Given the description of an element on the screen output the (x, y) to click on. 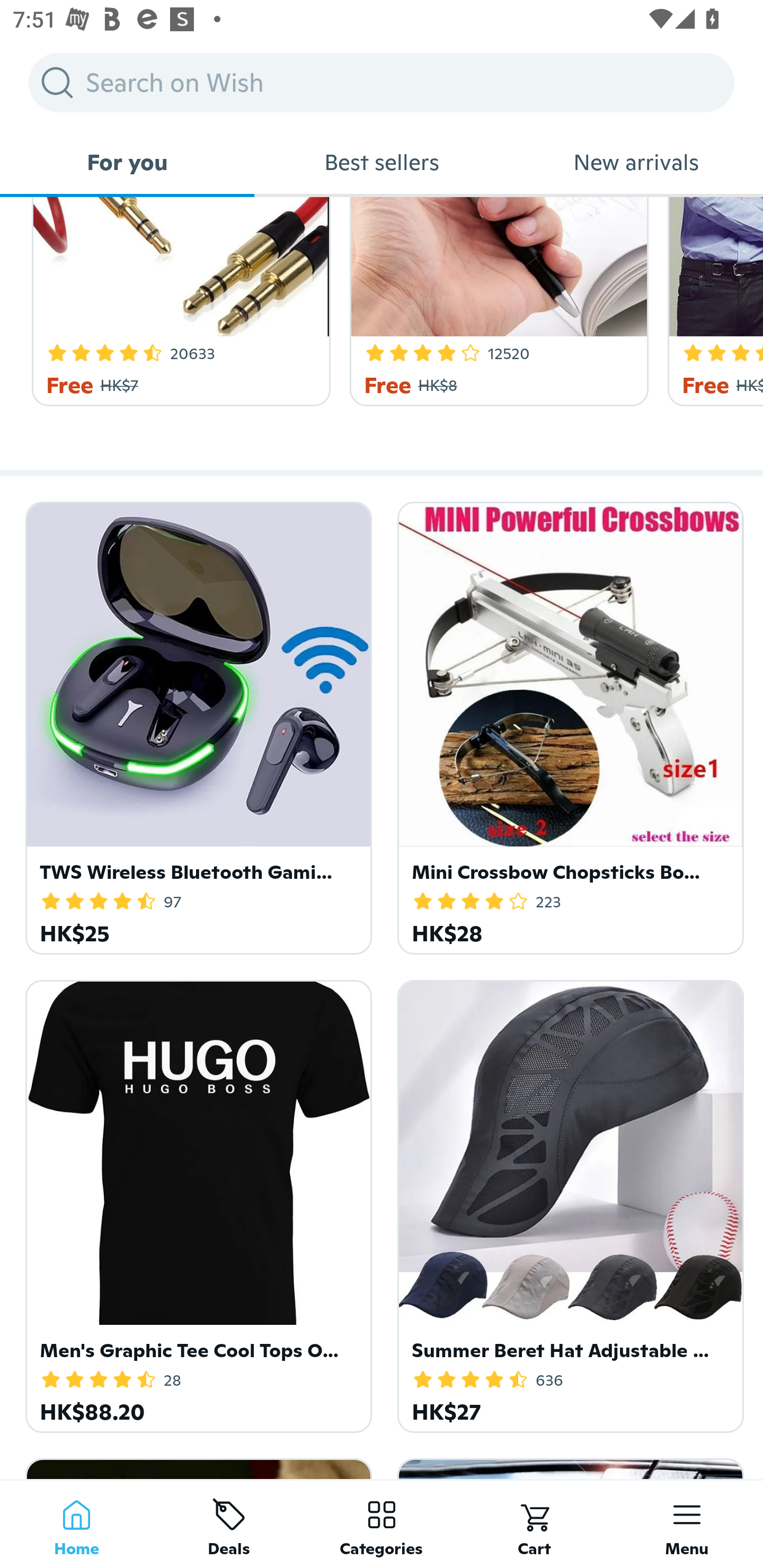
Search on Wish (381, 82)
For you (127, 161)
Best sellers (381, 161)
New arrivals (635, 161)
4.3 Star Rating 20633 Free HK$7 (177, 301)
3.9 Star Rating 12520 Free HK$8 (495, 301)
Home (76, 1523)
Deals (228, 1523)
Categories (381, 1523)
Cart (533, 1523)
Menu (686, 1523)
